Given the description of an element on the screen output the (x, y) to click on. 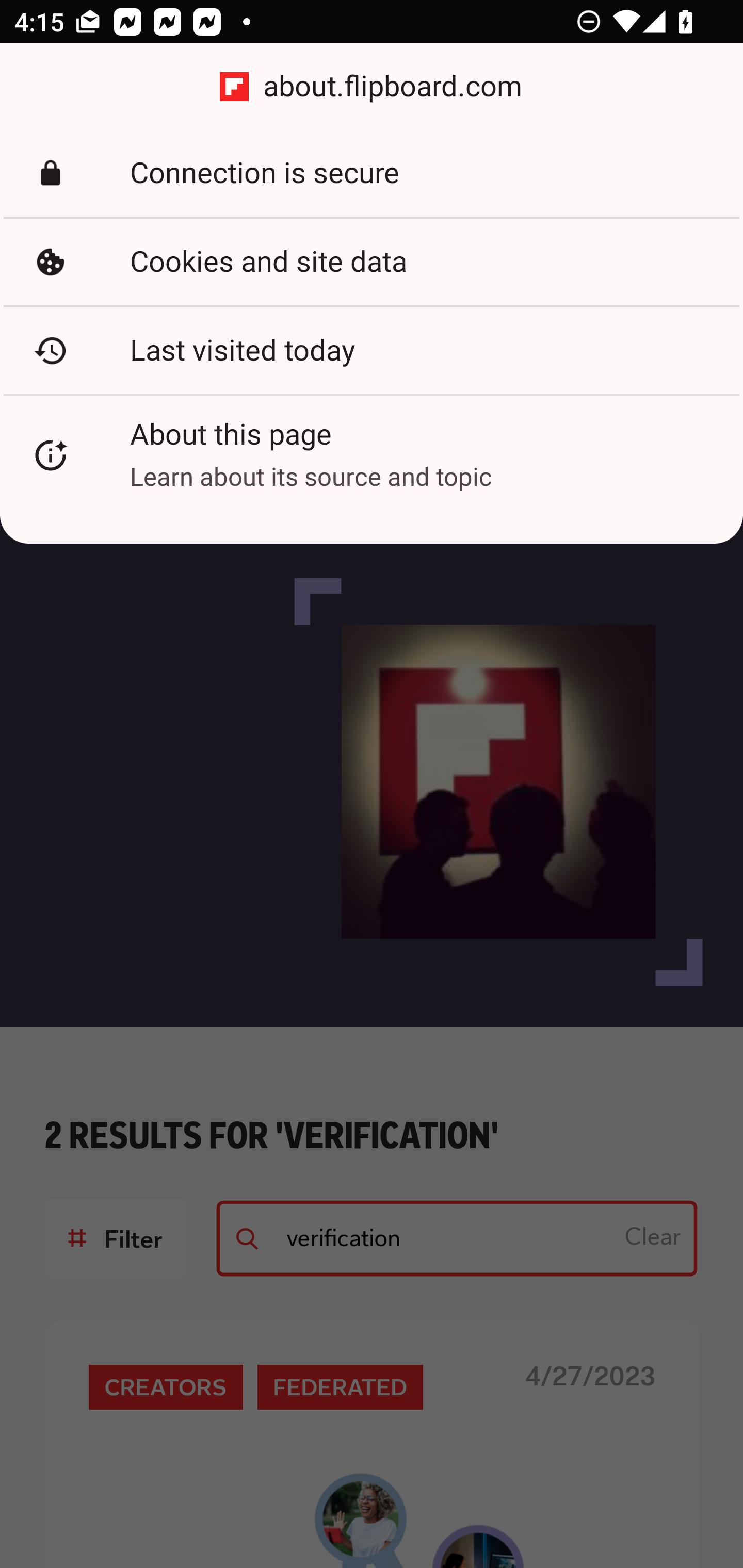
about.flipboard.com (371, 86)
Connection is secure (371, 173)
Cookies and site data (371, 261)
Last visited today (371, 350)
About this page Learn about its source and topic (371, 455)
